Given the description of an element on the screen output the (x, y) to click on. 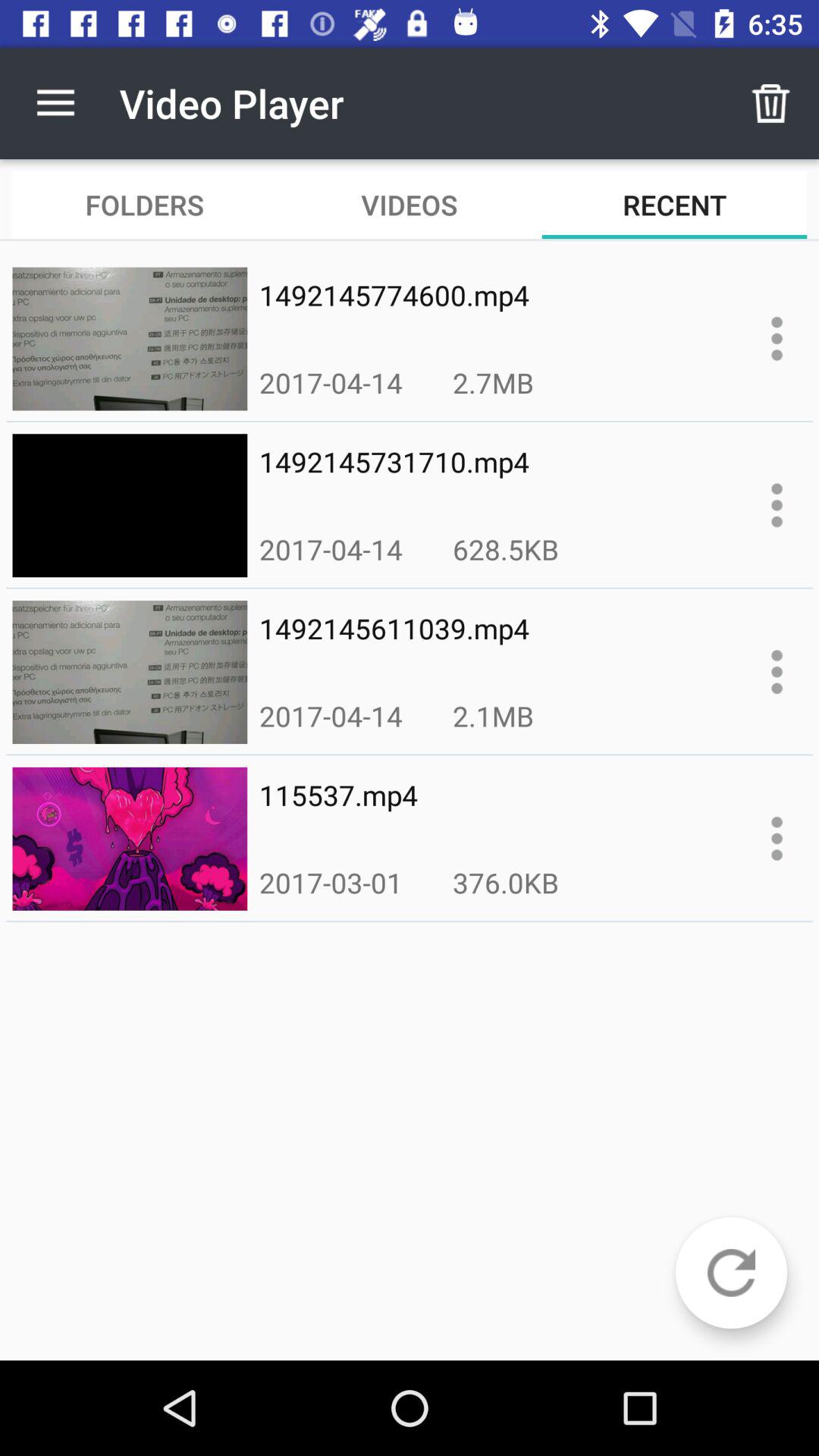
choose icon to the right of video player icon (771, 103)
